Given the description of an element on the screen output the (x, y) to click on. 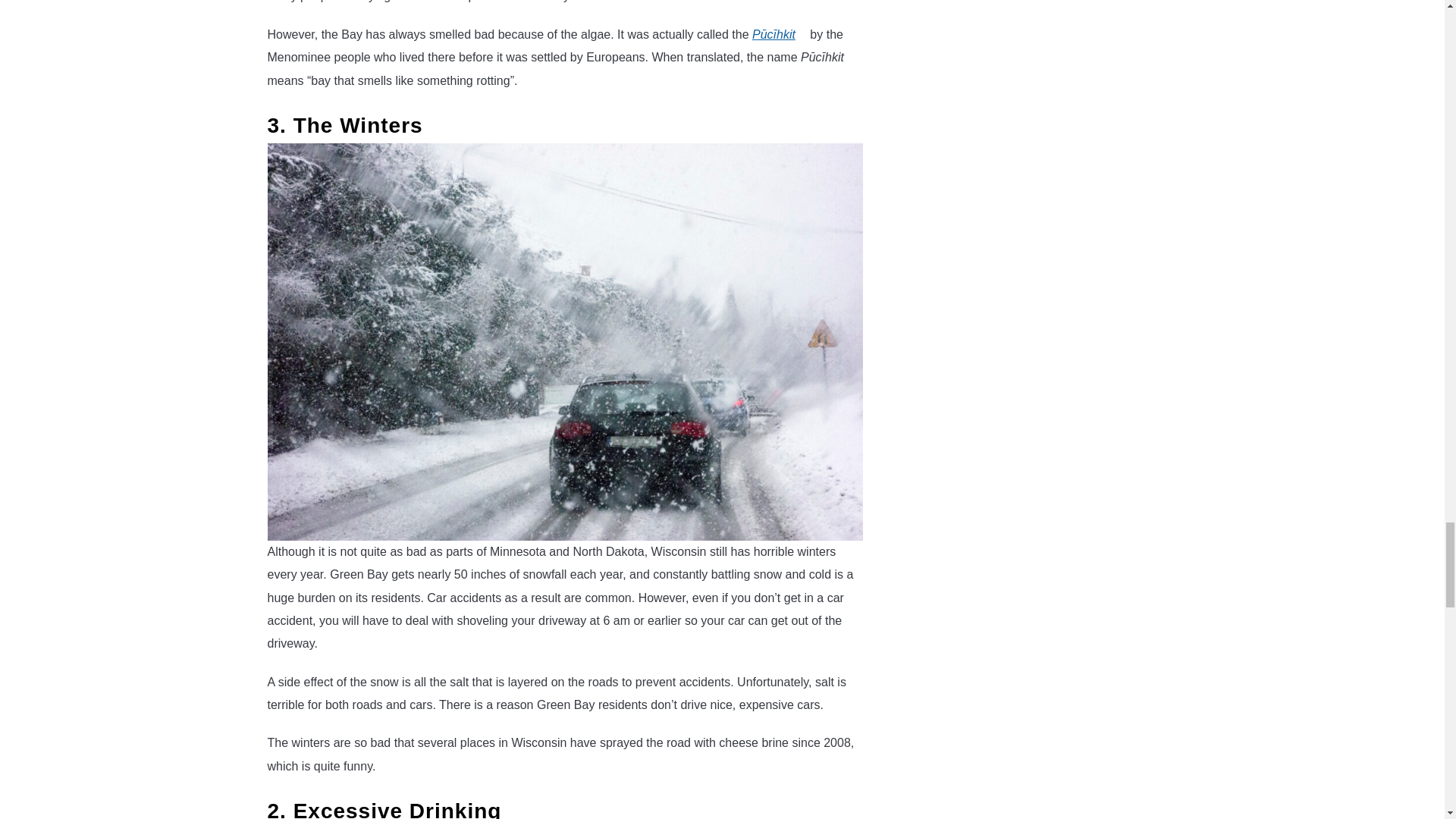
Opens in a new tab. (801, 31)
